Given the description of an element on the screen output the (x, y) to click on. 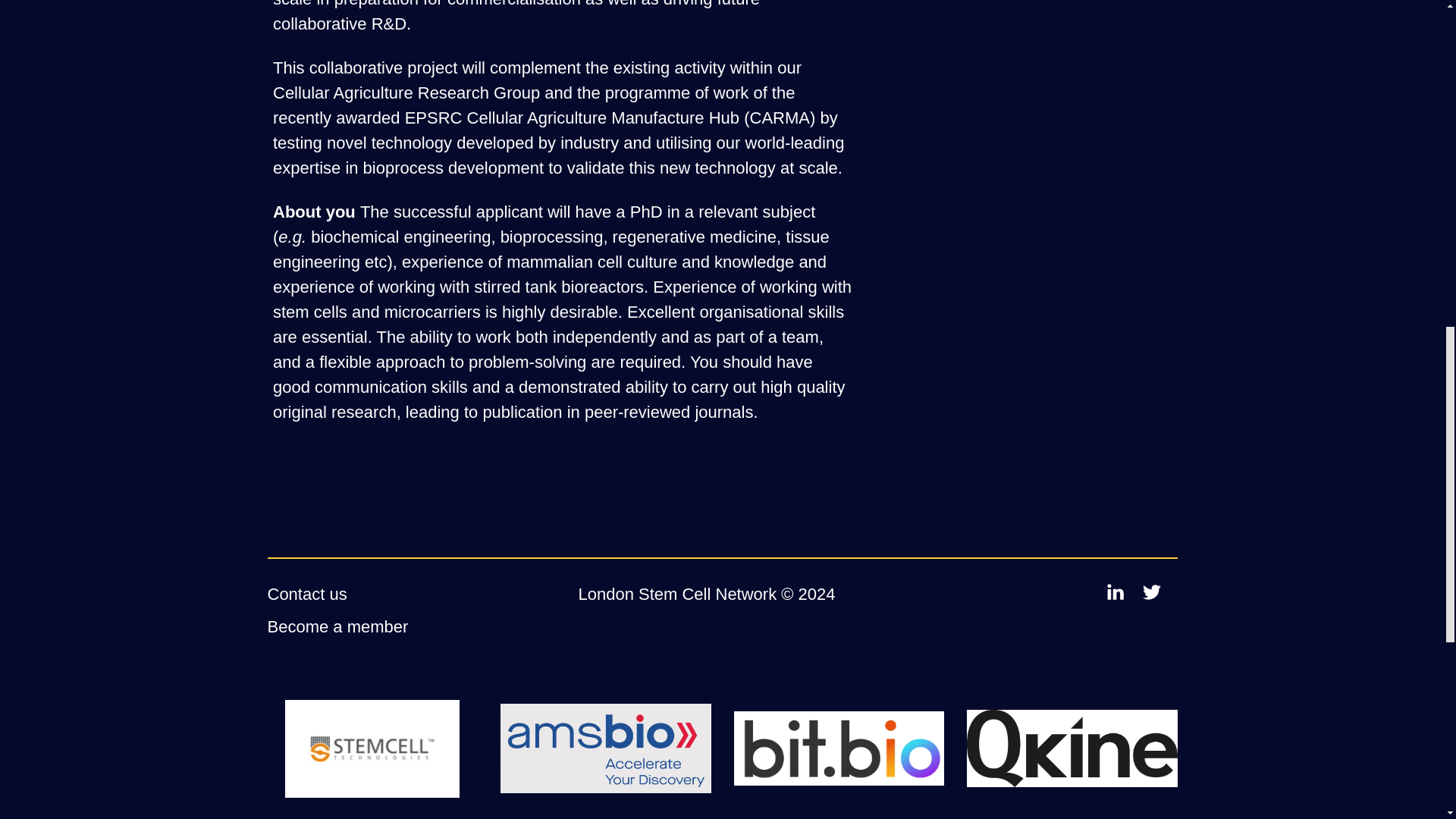
Become a member (336, 626)
Visit our Twitter page (1150, 591)
Visit our LinkedIn page (1114, 591)
Contact us (306, 593)
